Given the description of an element on the screen output the (x, y) to click on. 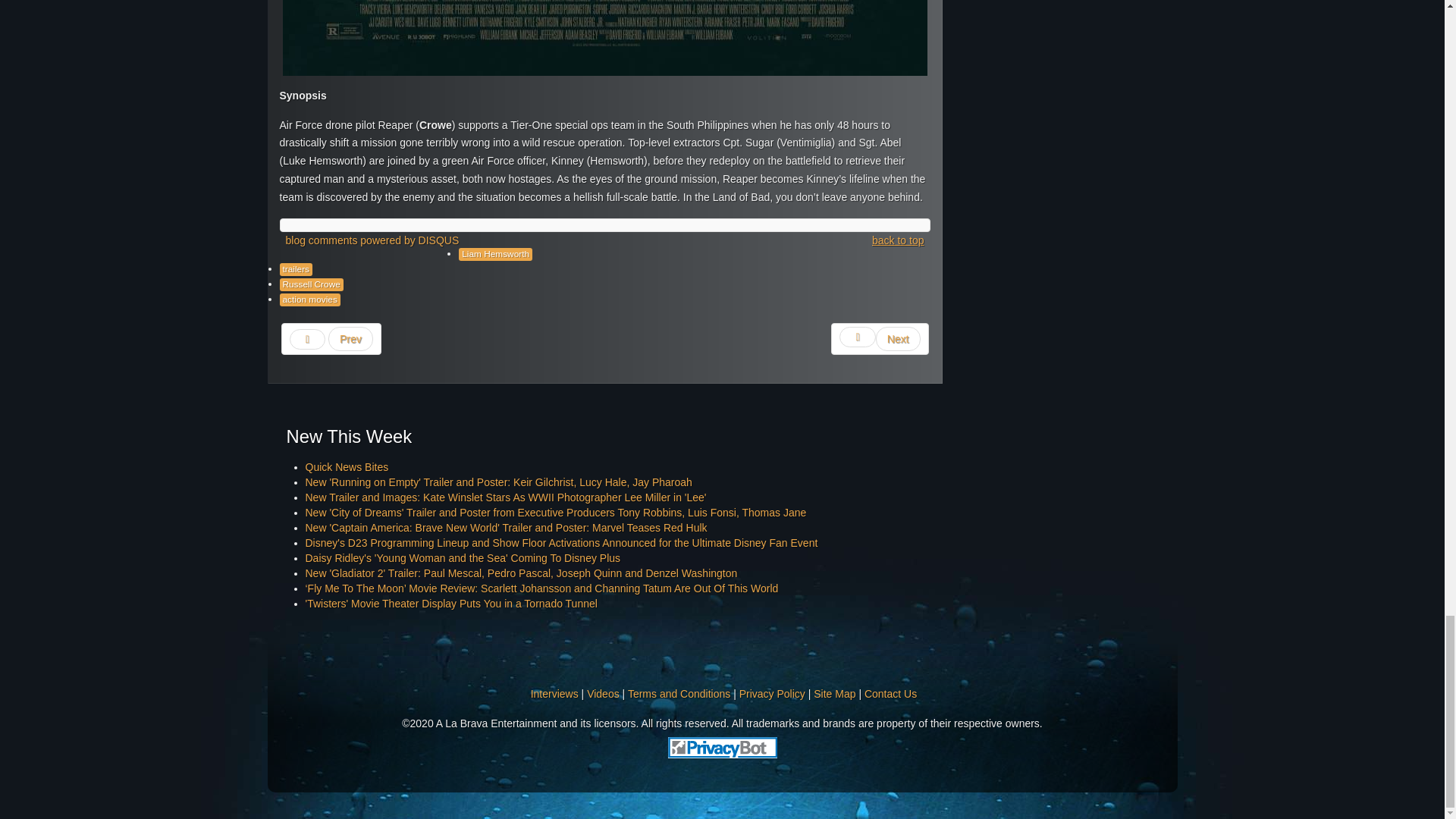
Privacy Policy Page (772, 693)
Next (879, 338)
Quick News Bites (346, 467)
pbseal (721, 747)
back to top (898, 240)
Russell Crowe (310, 284)
Privacy Bot Seal (721, 746)
Liam Hemsworth (495, 254)
Contact CineMovie (890, 693)
